Given the description of an element on the screen output the (x, y) to click on. 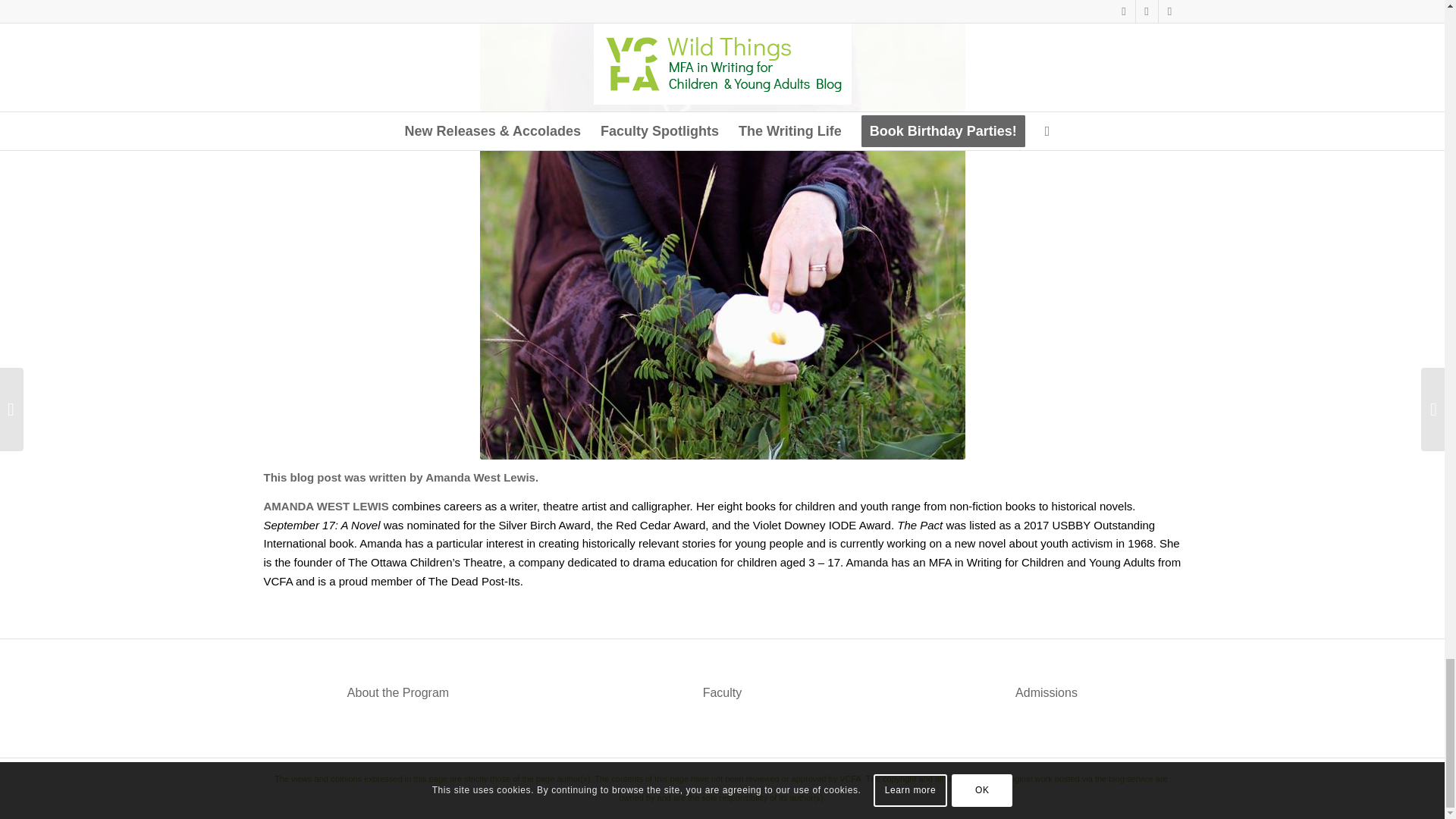
Admissions (1045, 692)
Faculty (722, 692)
About the Program (397, 692)
